Given the description of an element on the screen output the (x, y) to click on. 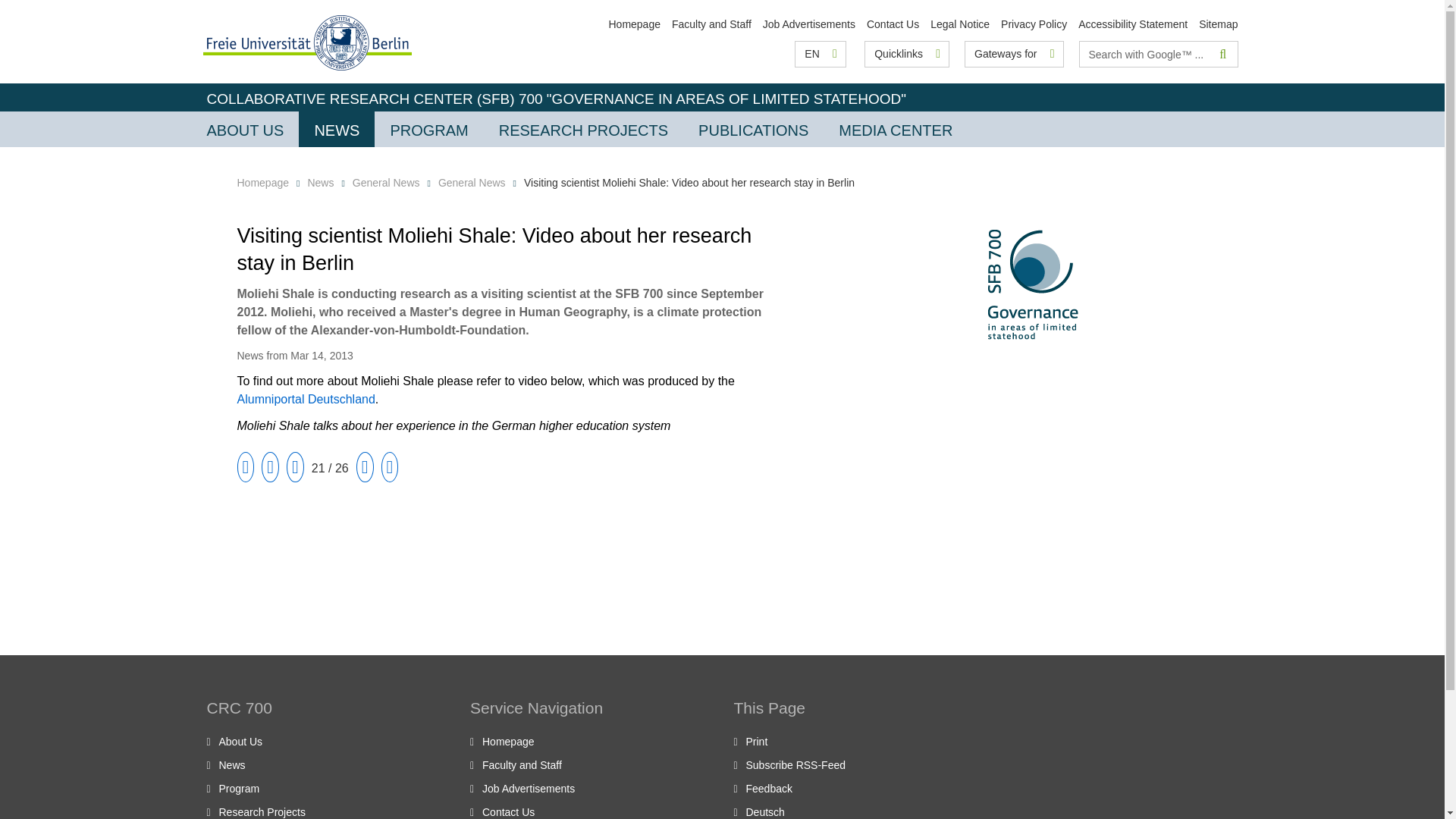
Legal Notice (960, 24)
Sitemap (1217, 24)
Accessibility Statement (1133, 24)
Contact Us (892, 24)
Job Advertisements (809, 24)
Homepage (634, 24)
Privacy Policy (1034, 24)
Faculty and Staff (711, 24)
